Given the description of an element on the screen output the (x, y) to click on. 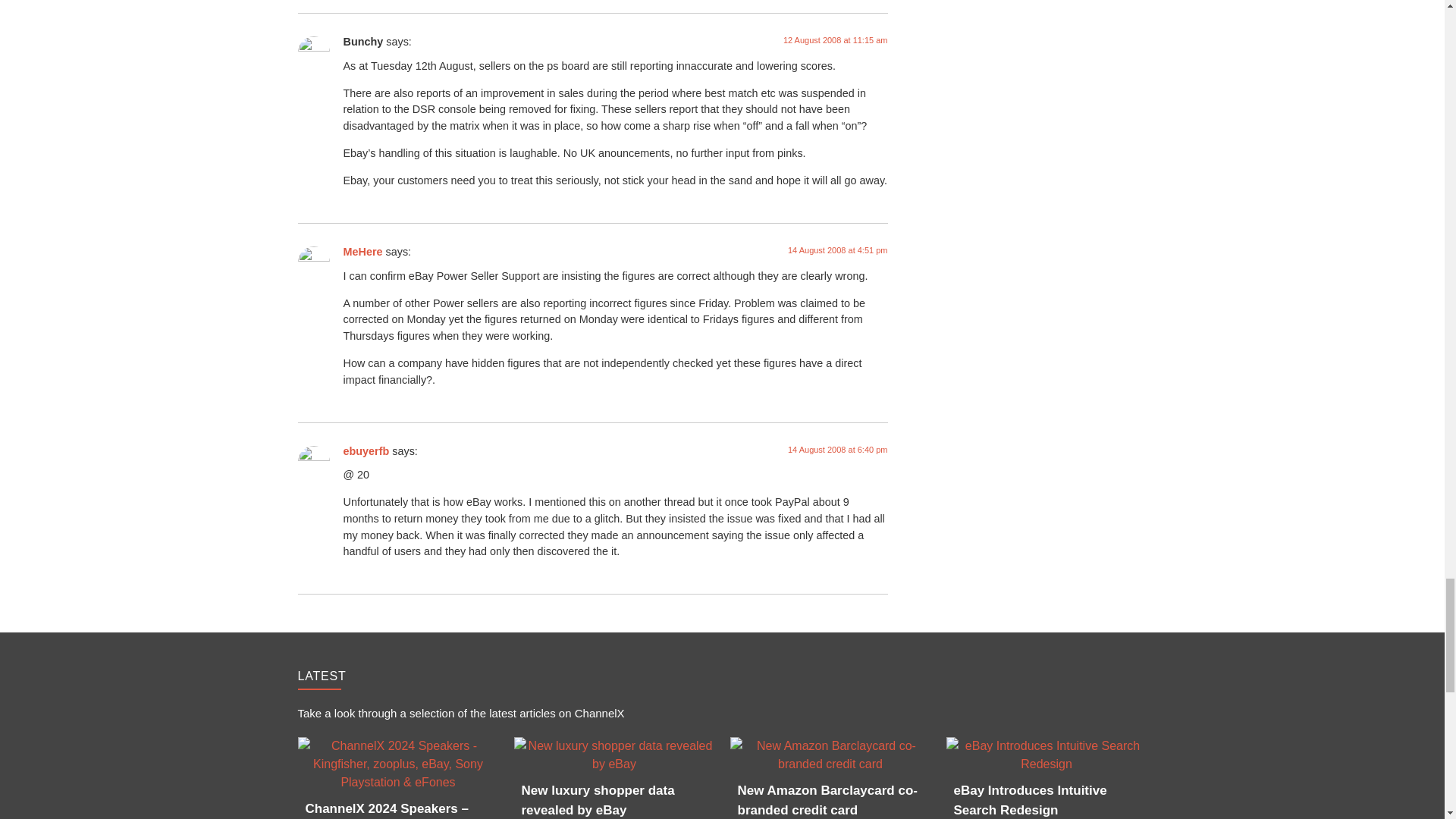
New Amazon Barclaycard co-branded credit card (829, 755)
New luxury shopper data revealed by eBay (613, 755)
eBay Introduces Intuitive Search Redesign (1046, 755)
